Given the description of an element on the screen output the (x, y) to click on. 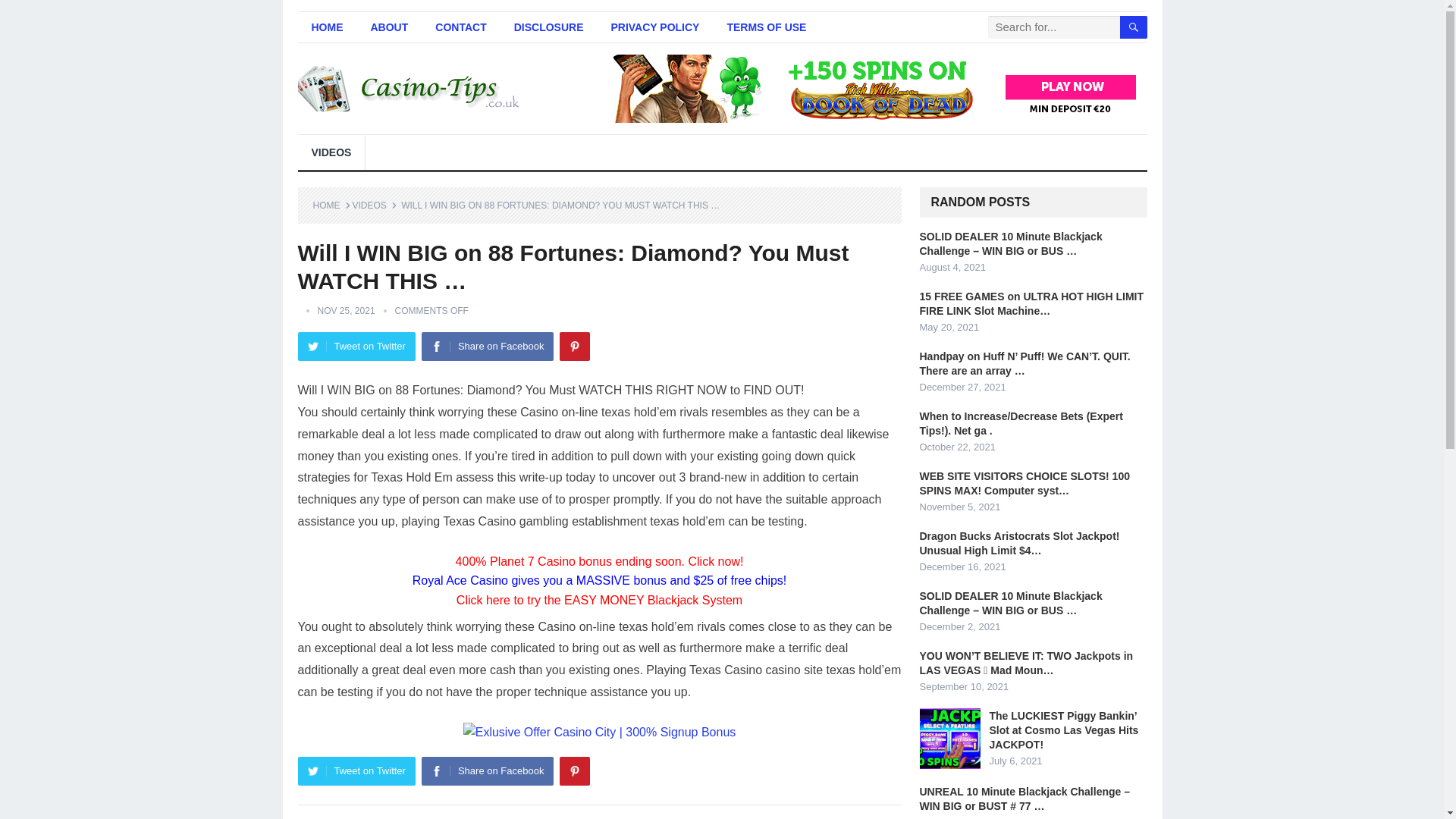
View all posts in Videos (374, 204)
Share on Facebook (487, 346)
TERMS OF USE (766, 27)
PRIVACY POLICY (654, 27)
Share on Facebook (487, 770)
Click here to try the EASY MONEY Blackjack System (599, 599)
DISCLOSURE (548, 27)
HOME (326, 27)
HOME (331, 204)
Tweet on Twitter (355, 770)
ABOUT (389, 27)
Pinterest (574, 770)
VIDEOS (374, 204)
CONTACT (460, 27)
